Given the description of an element on the screen output the (x, y) to click on. 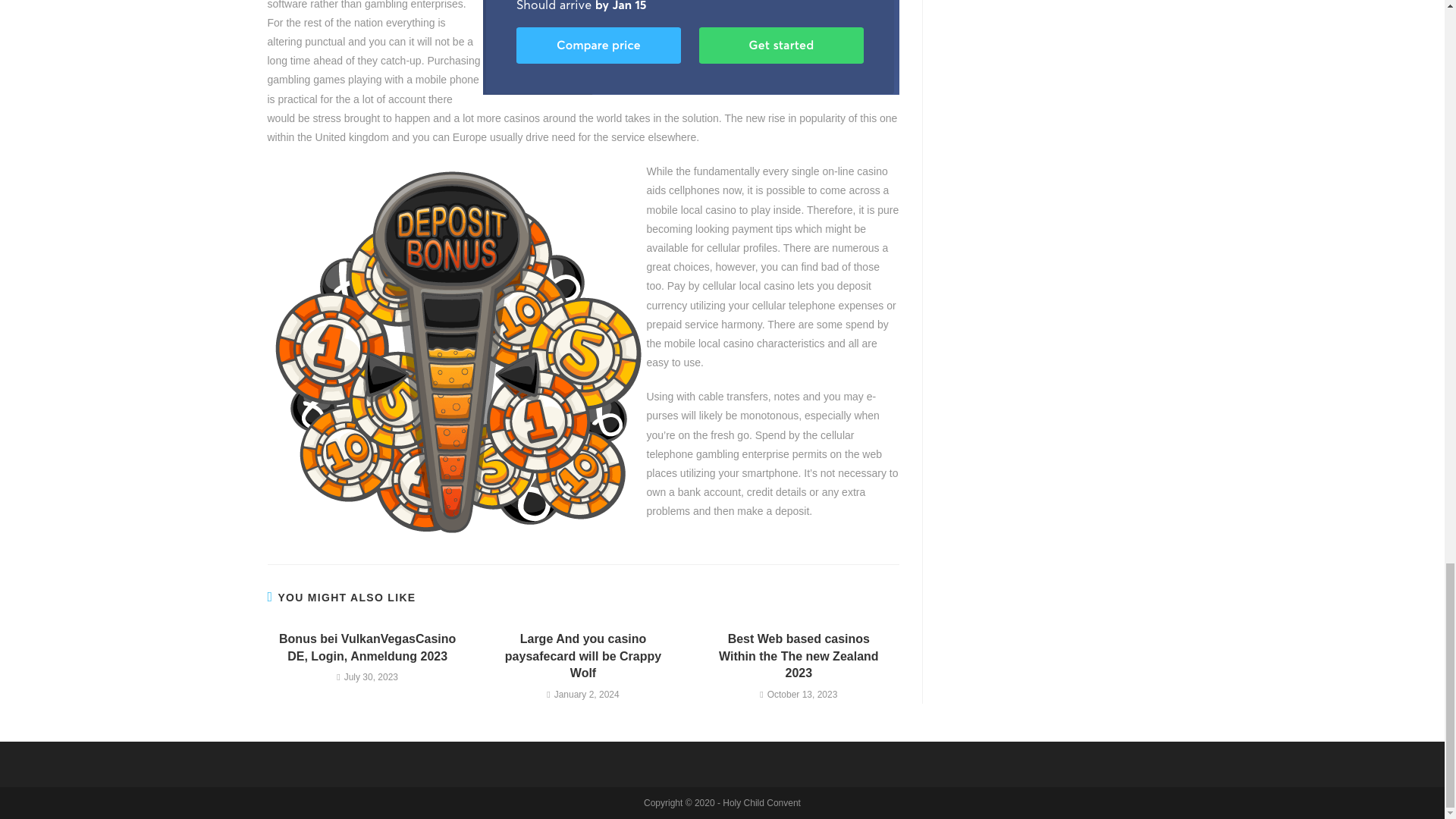
Bonus bei VulkanVegasCasino DE, Login, Anmeldung 2023 (367, 647)
Bonus bei VulkanVegasCasino DE, Login, Anmeldung 2023 (367, 647)
Best Web based casinos Within the The new Zealand 2023 (798, 655)
Large And you casino paysafecard will be Crappy Wolf (583, 655)
Large And you casino paysafecard will be Crappy Wolf (583, 655)
Best Web based casinos Within the The new Zealand 2023 (798, 655)
